Given the description of an element on the screen output the (x, y) to click on. 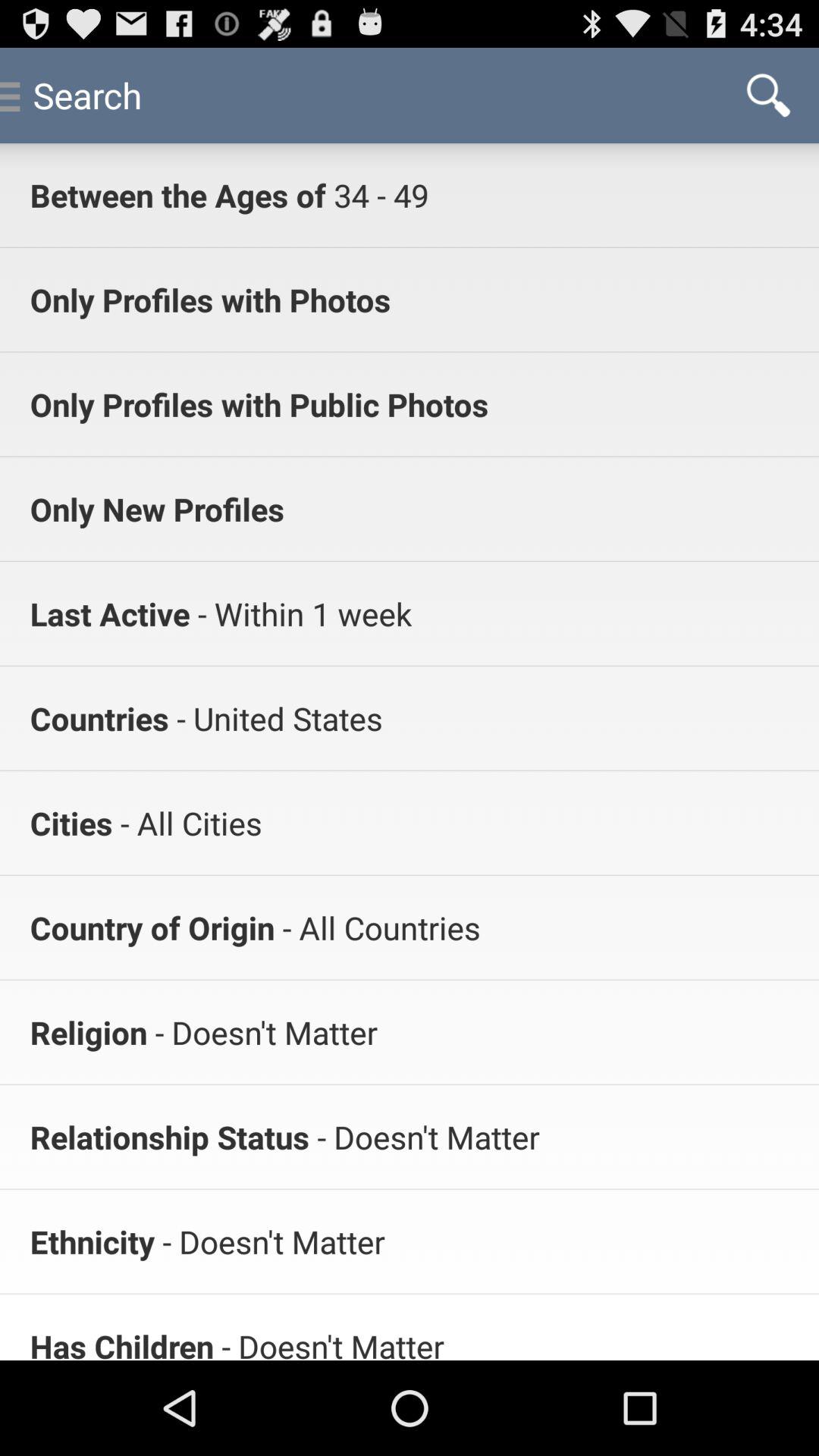
press app below the only new profiles app (300, 613)
